Given the description of an element on the screen output the (x, y) to click on. 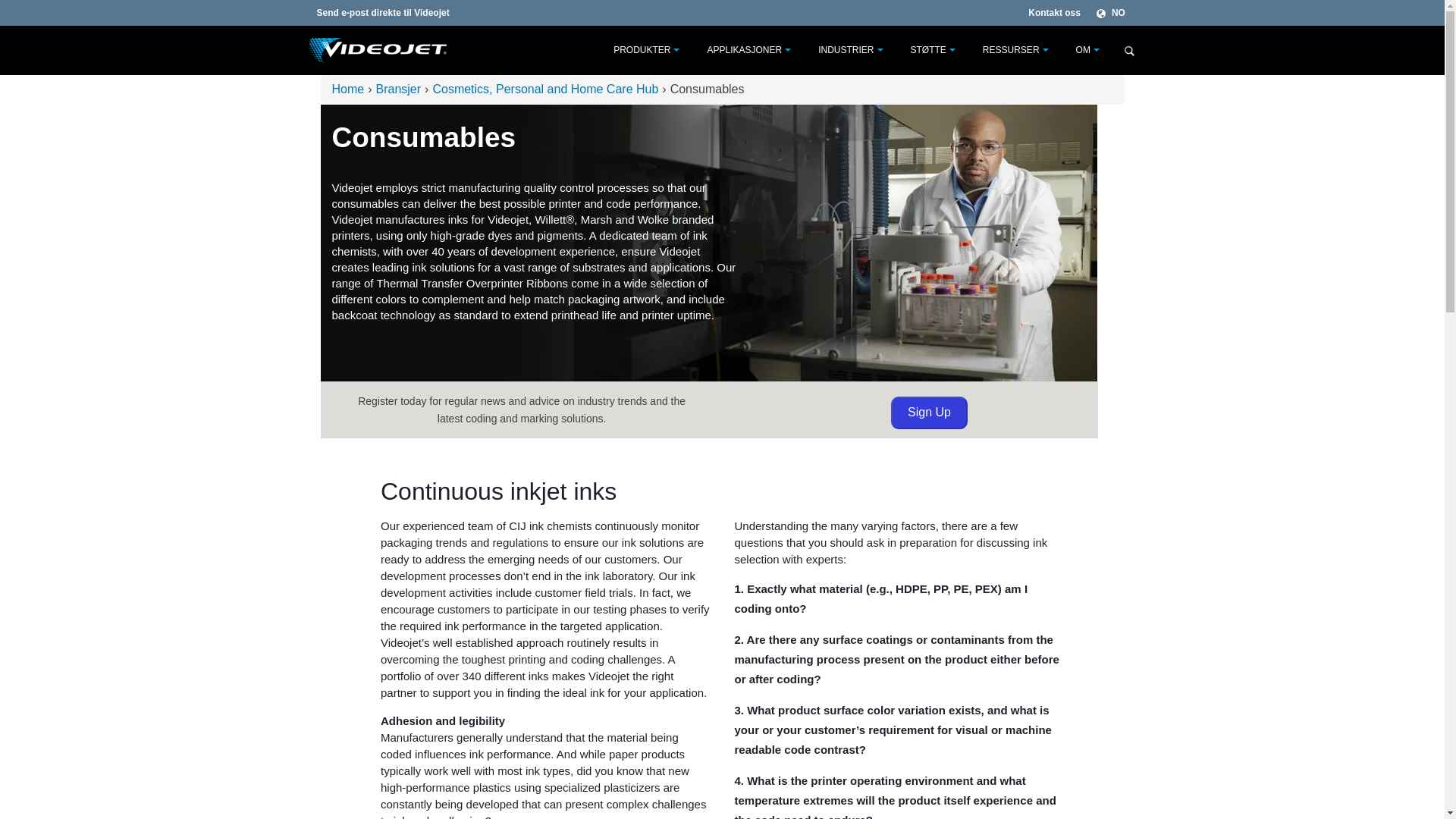
Cosmetics, Personal and Home Care Hub (545, 88)
PRODUKTER (635, 50)
Bransjer (398, 88)
APPLIKASJONER (737, 50)
global country (1112, 12)
NO (1112, 12)
Home (348, 88)
